Given the description of an element on the screen output the (x, y) to click on. 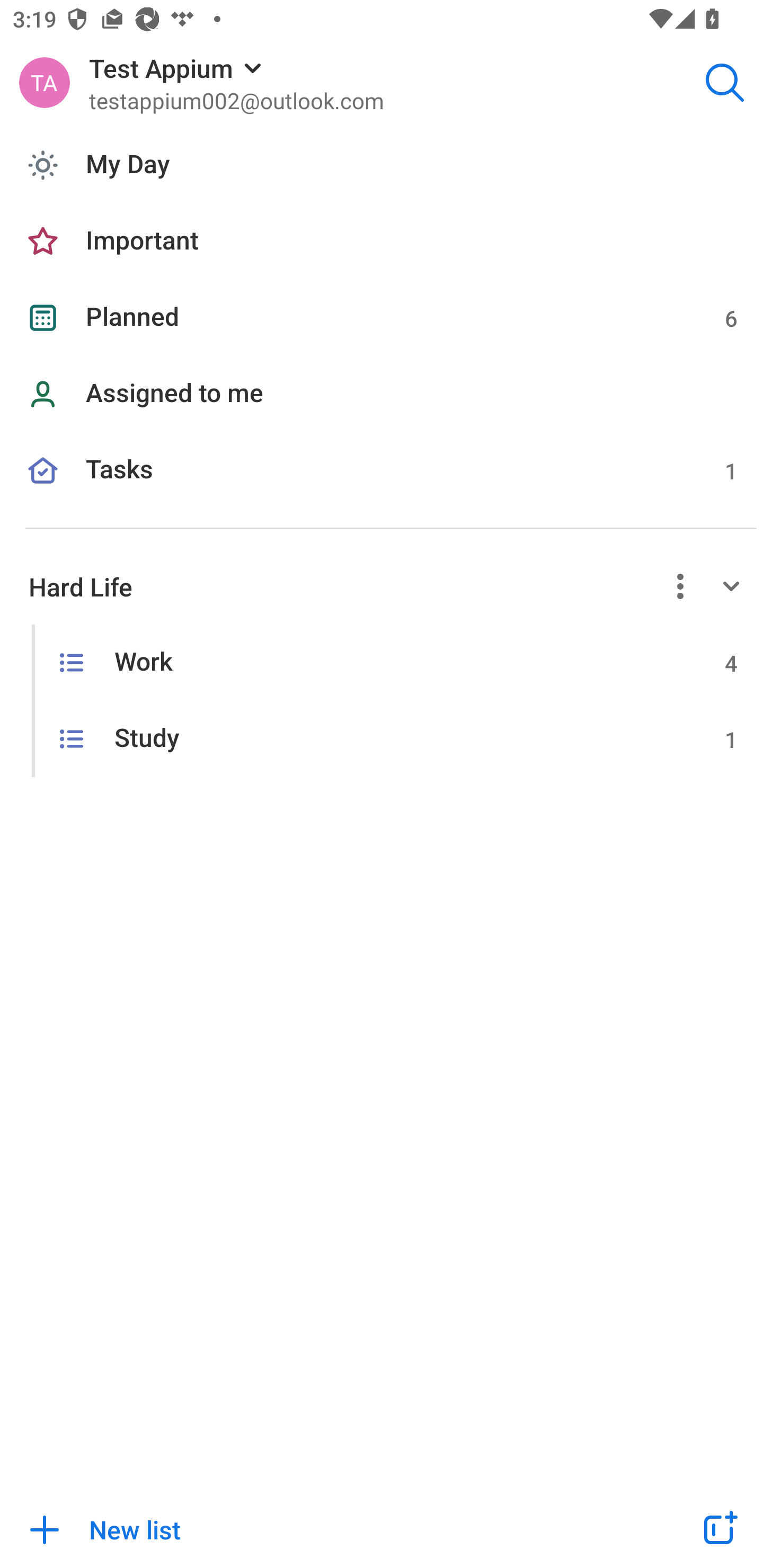
Enter search (724, 81)
